Given the description of an element on the screen output the (x, y) to click on. 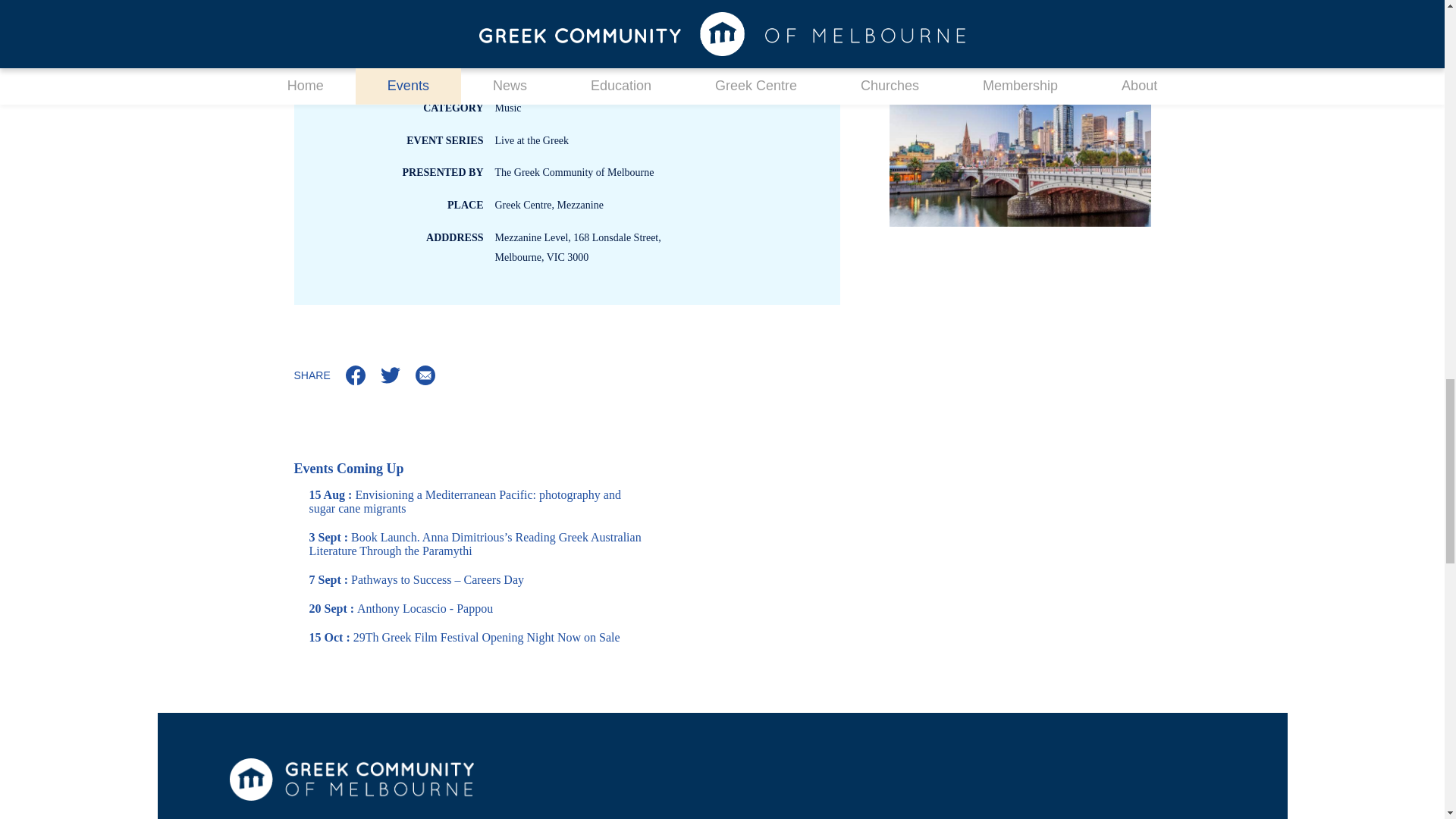
Advertisement (1019, 152)
Advertisement (1019, 31)
Greek Community of Melbourne (350, 779)
